Given the description of an element on the screen output the (x, y) to click on. 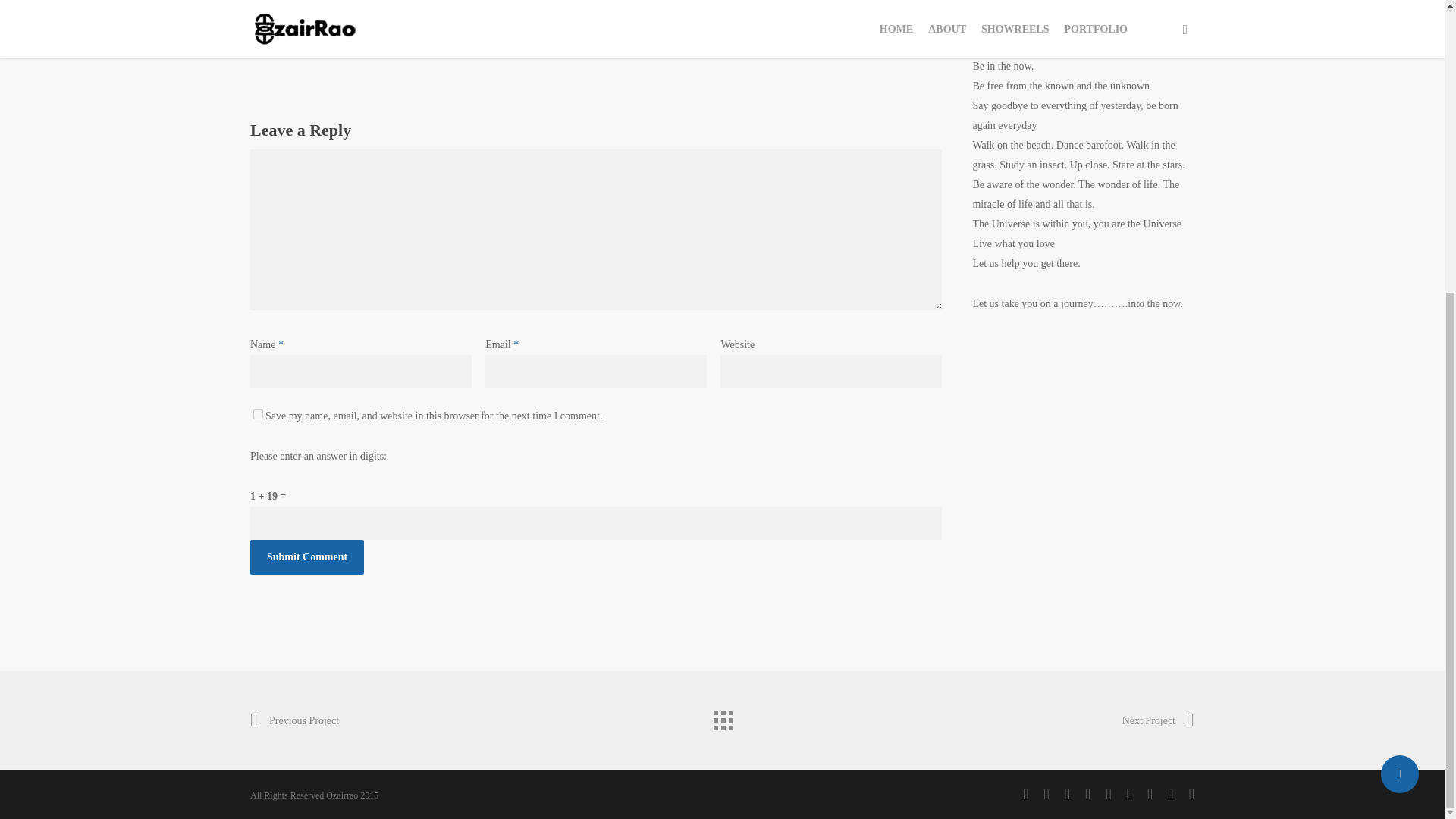
Submit Comment (307, 556)
Previous Project (294, 721)
yes (258, 414)
Submit Comment (307, 556)
Back to all projects (721, 716)
Next Project (1157, 721)
